Given the description of an element on the screen output the (x, y) to click on. 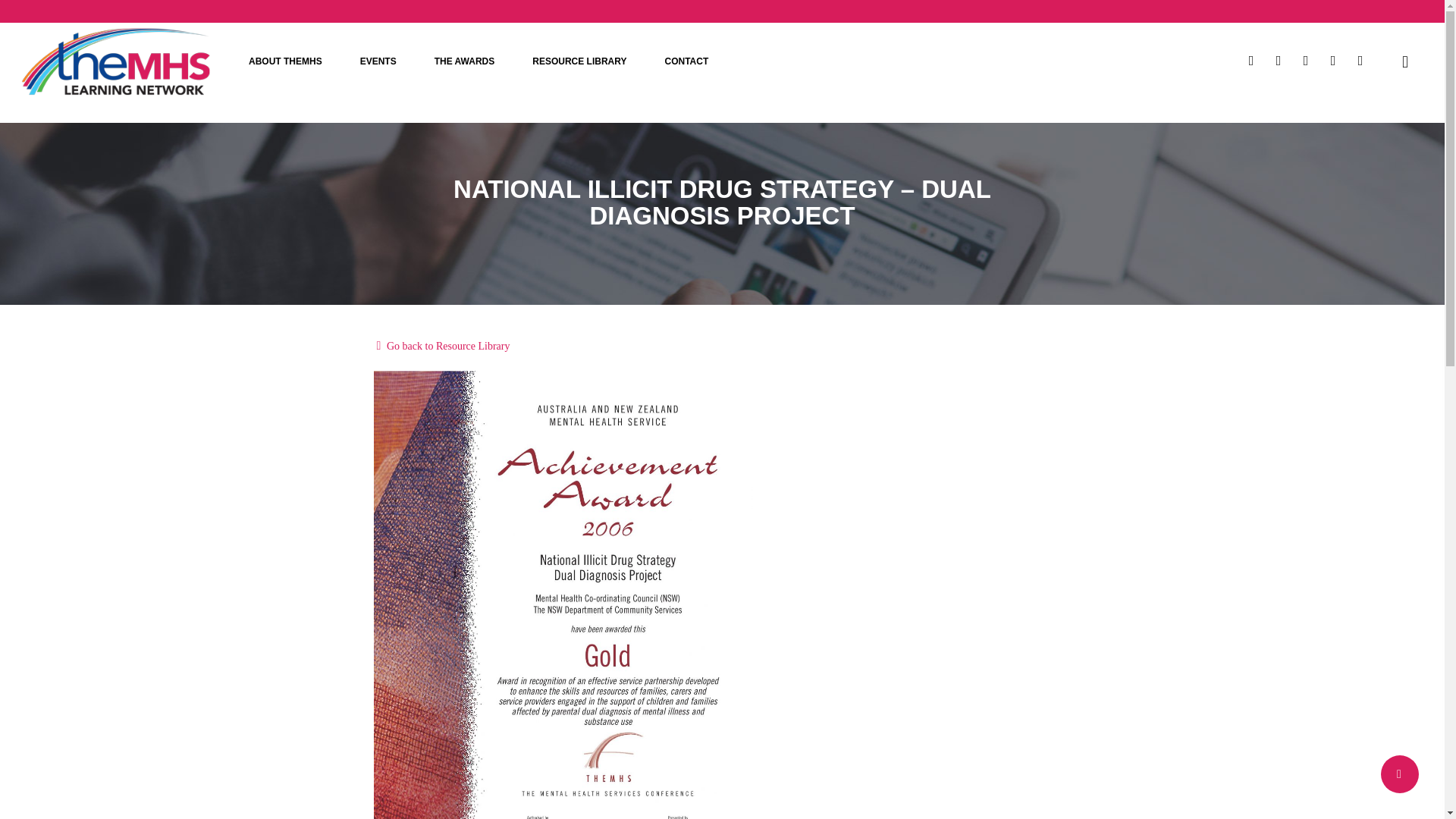
EVENTS (378, 61)
CONTACT (686, 61)
RESOURCE LIBRARY (579, 61)
ABOUT THEMHS (285, 61)
THE AWARDS (464, 61)
